Given the description of an element on the screen output the (x, y) to click on. 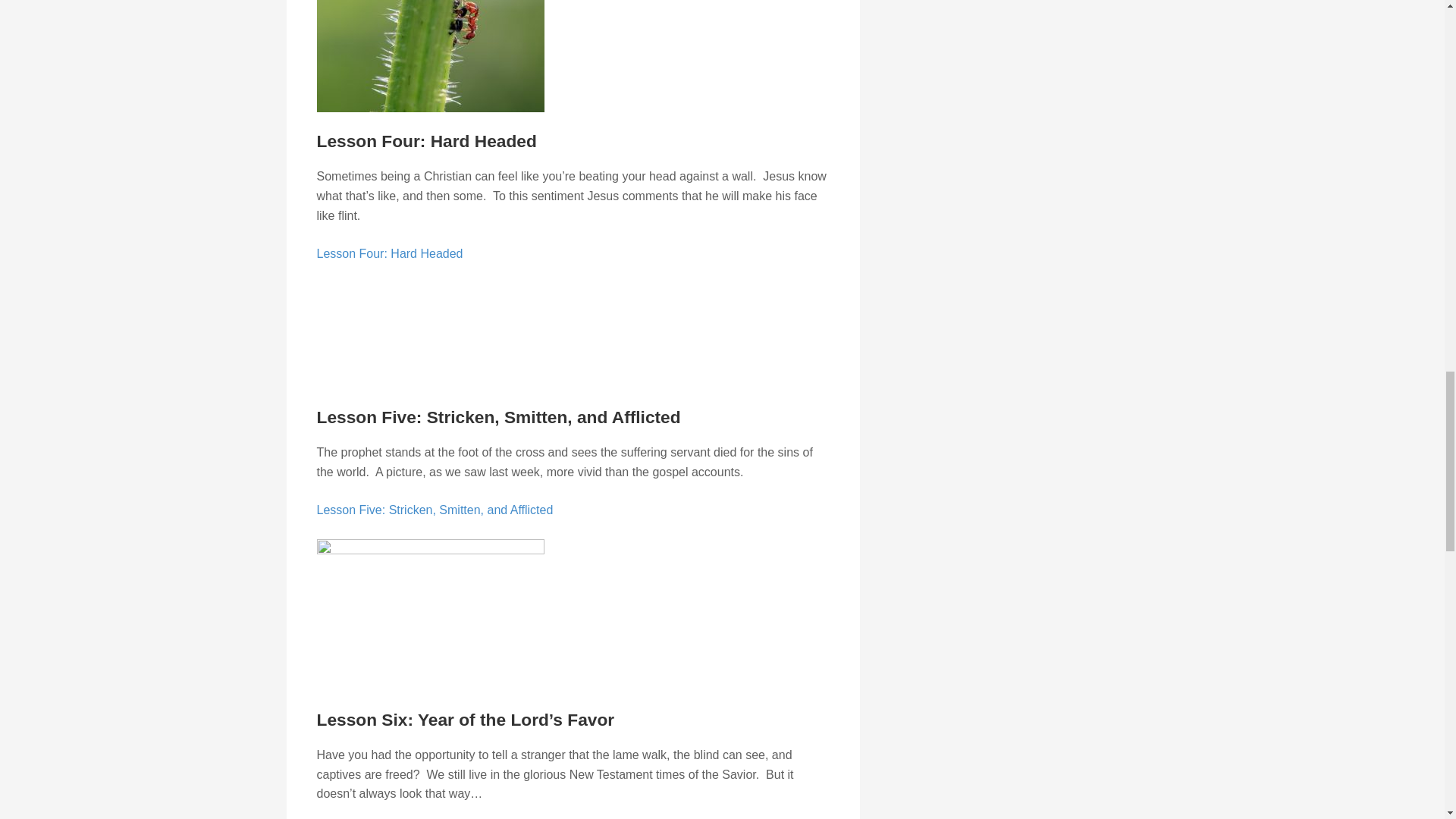
Lesson Four: Hard Headed (390, 253)
Lesson Five: Stricken, Smitten, and Afflicted (435, 509)
